Given the description of an element on the screen output the (x, y) to click on. 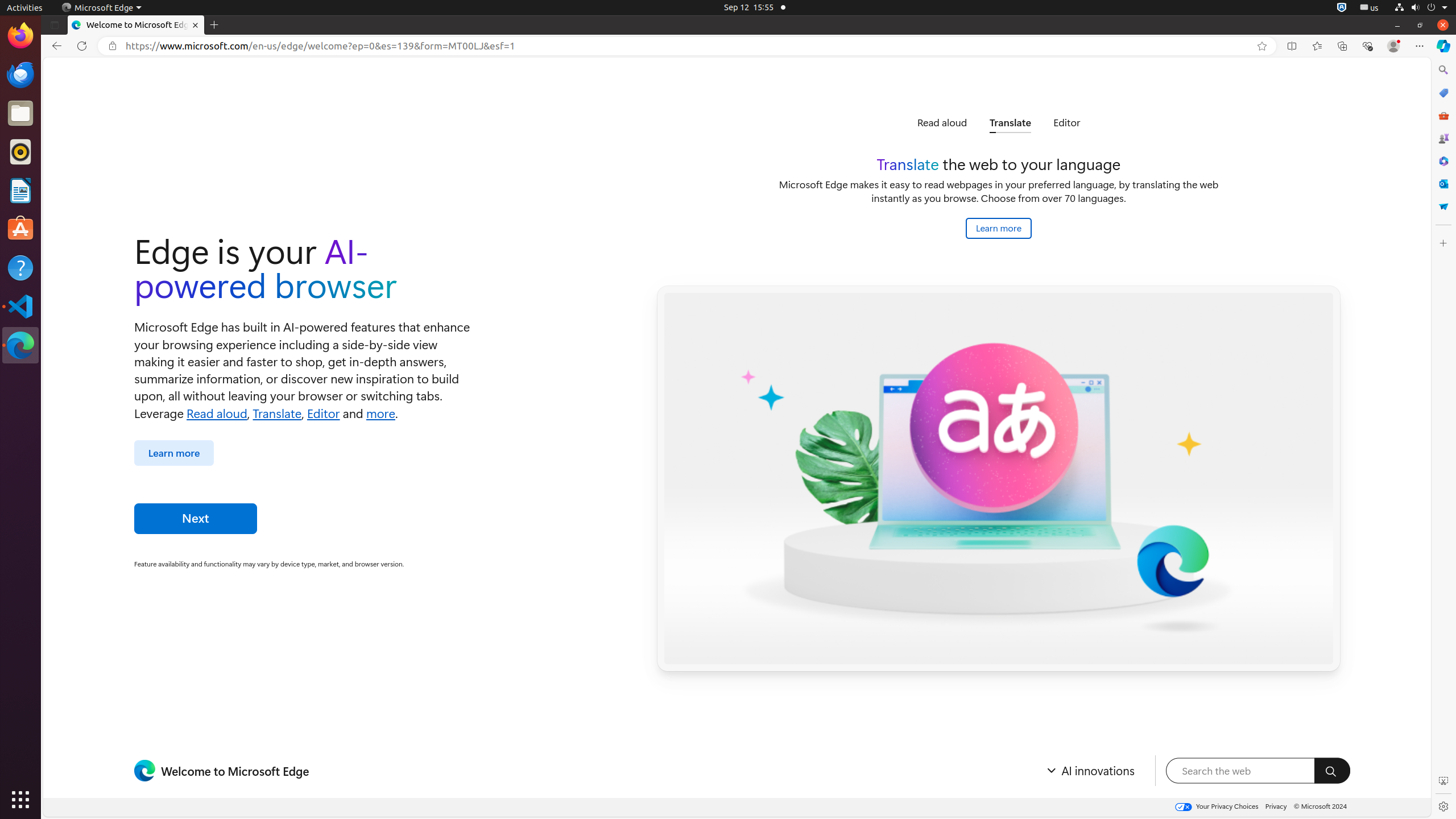
Refresh Element type: push-button (81, 45)
Settings Element type: push-button (1443, 806)
Screenshot Element type: push-button (1443, 780)
Drop Element type: push-button (1443, 206)
:1.21/StatusNotifierItem Element type: menu (1369, 7)
